Given the description of an element on the screen output the (x, y) to click on. 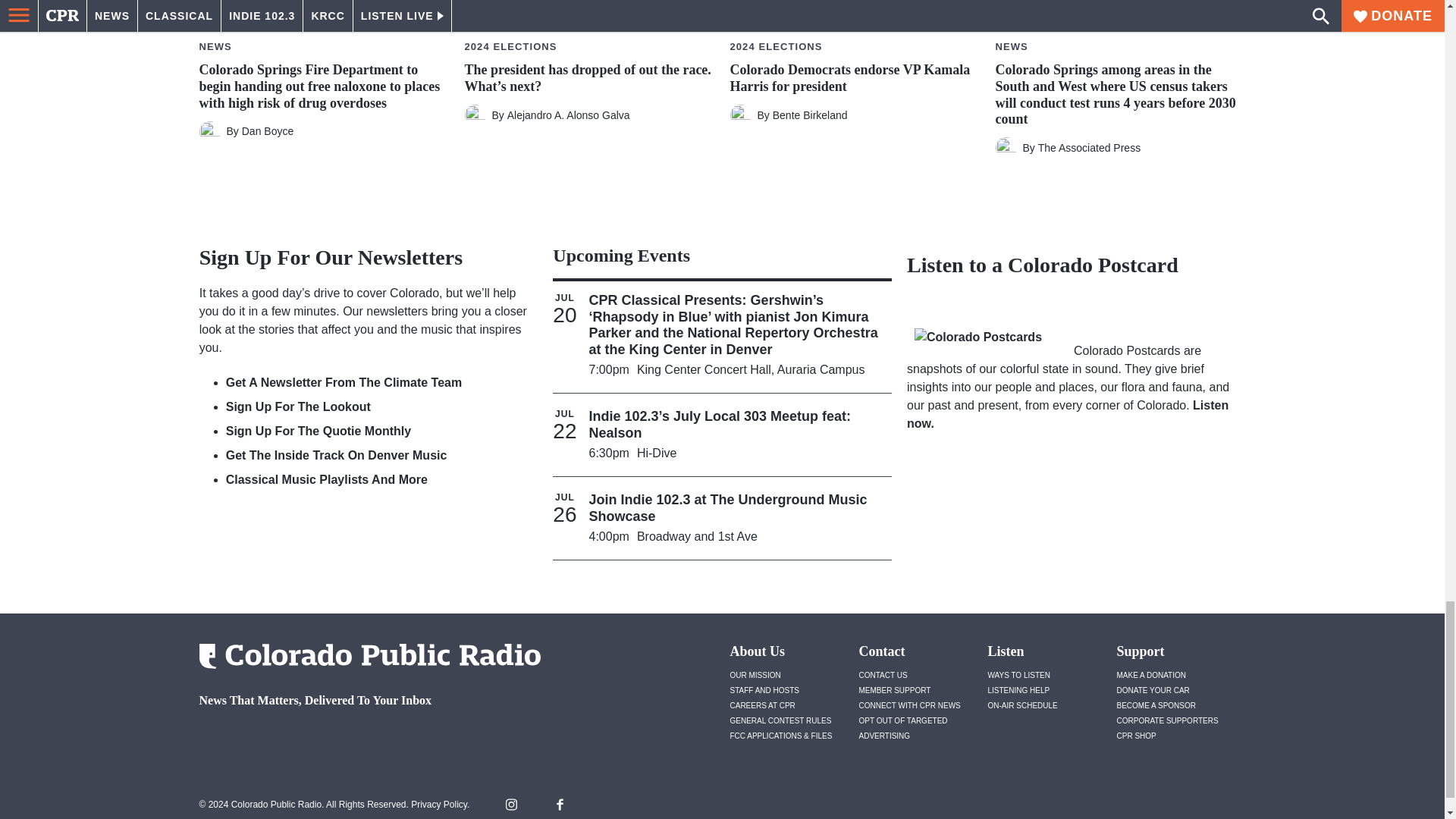
footer (364, 740)
